Given the description of an element on the screen output the (x, y) to click on. 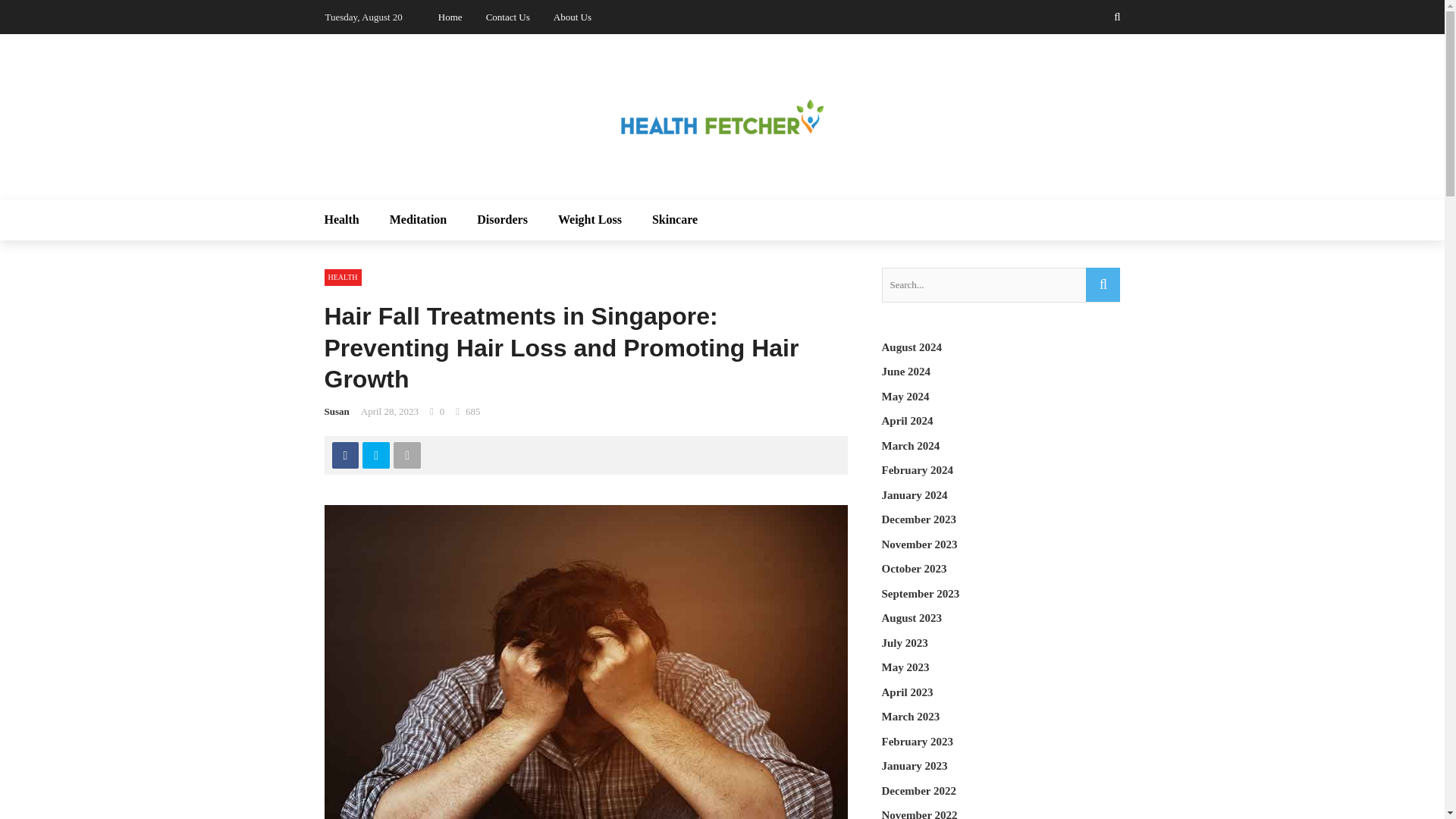
Home (450, 16)
Skincare (667, 219)
Meditation (418, 219)
Health (349, 219)
HEALTH (342, 277)
Disorders (502, 219)
Susan (336, 410)
About Us (572, 16)
Contact Us (507, 16)
Weight Loss (590, 219)
